Given the description of an element on the screen output the (x, y) to click on. 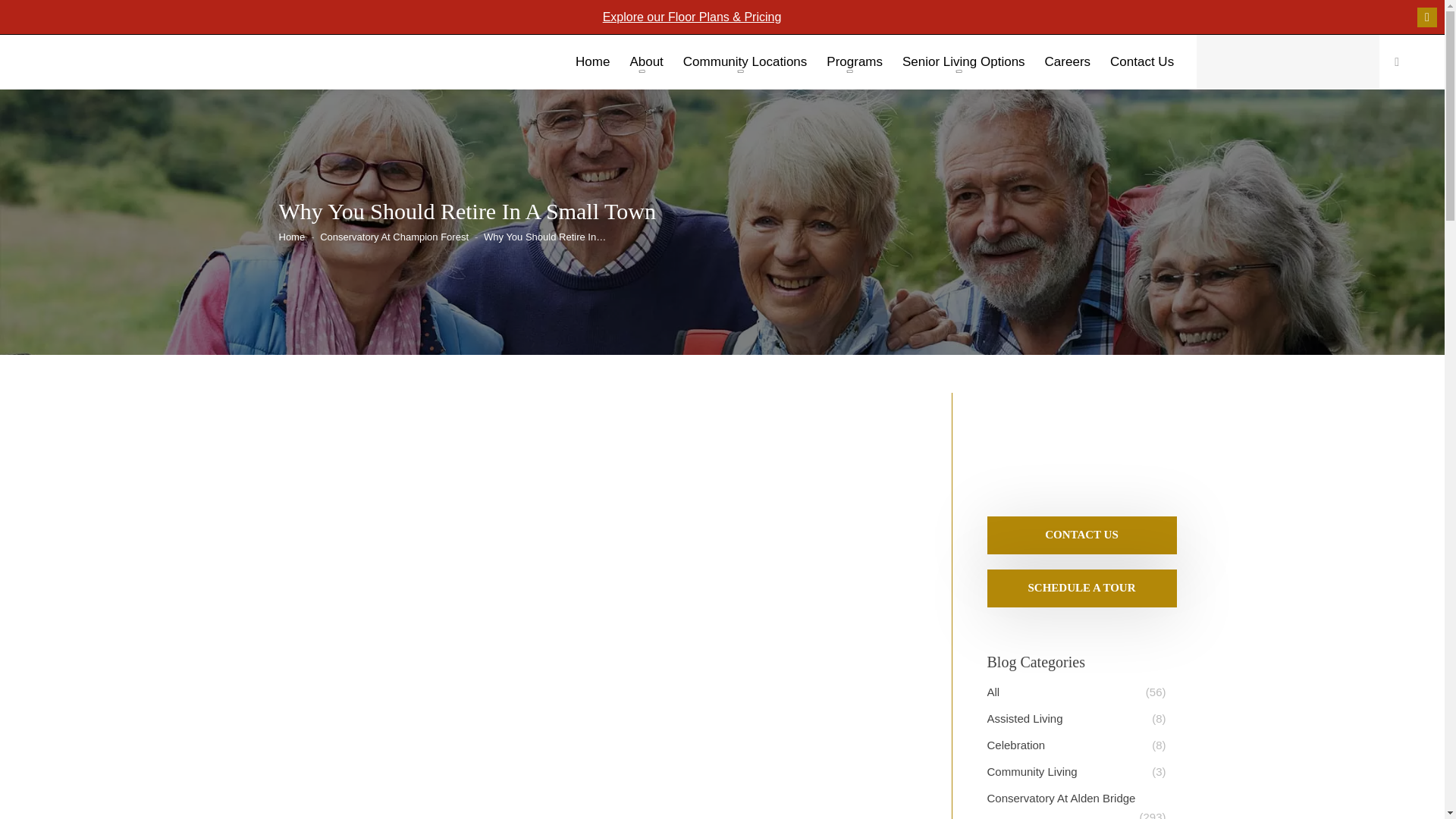
Facebook page opens in new window (1426, 17)
Community Locations (744, 65)
Facebook page opens in new window (1426, 17)
Contact Us (1081, 533)
Schedule A Tour (1081, 586)
Go! (24, 15)
Careers (1067, 65)
Senior Living Options (963, 65)
Conservatory-Parent-logo-250x136 (1076, 441)
Programs (854, 65)
